Given the description of an element on the screen output the (x, y) to click on. 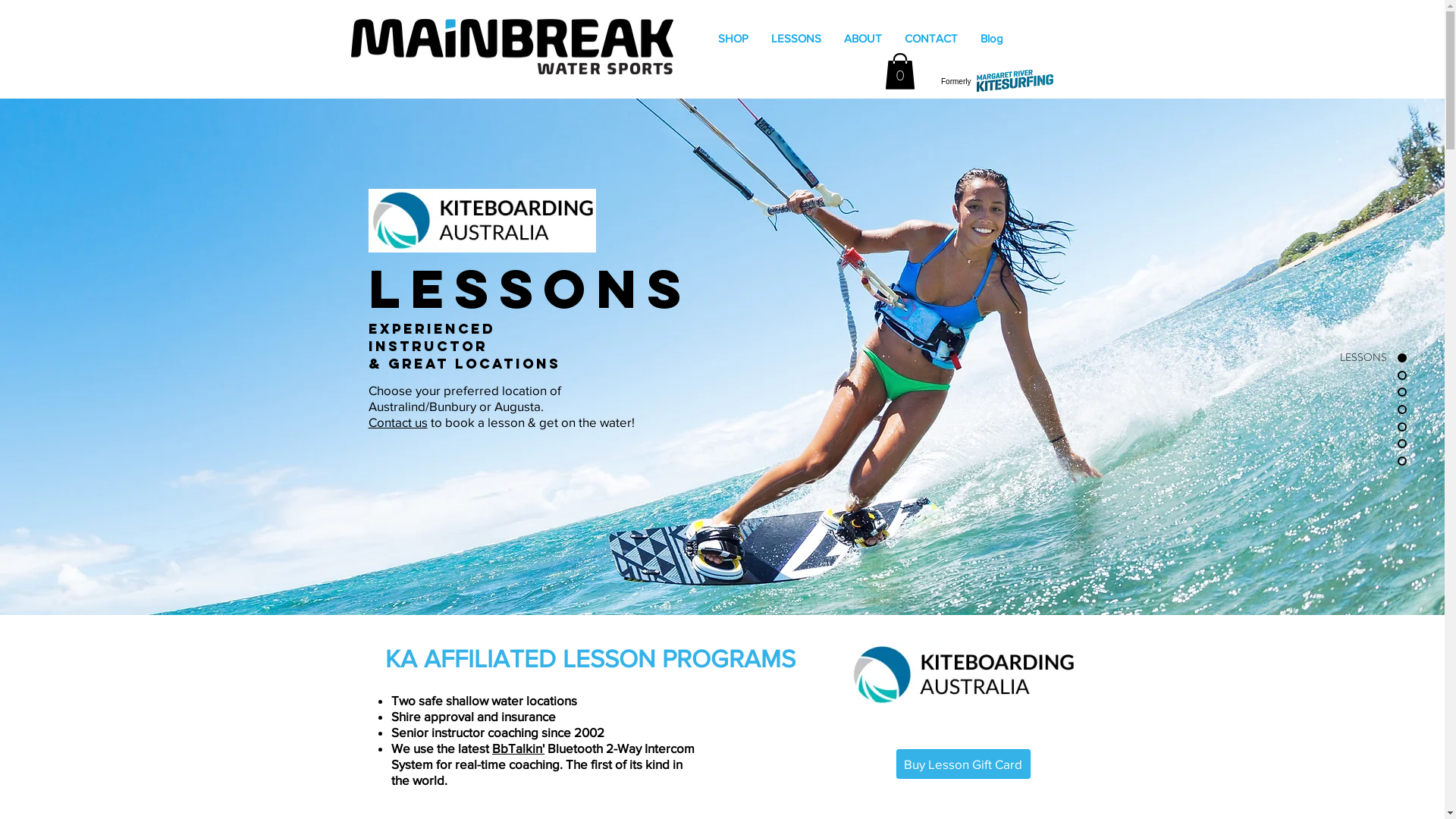
BbTalkin' Element type: text (518, 747)
0 Element type: text (899, 71)
Contact us Element type: text (397, 421)
Blog Element type: text (991, 38)
Buy Lesson Gift Card Element type: text (963, 763)
LESSONS Element type: text (1345, 357)
ABOUT Element type: text (862, 38)
CONTACT Element type: text (931, 38)
